Given the description of an element on the screen output the (x, y) to click on. 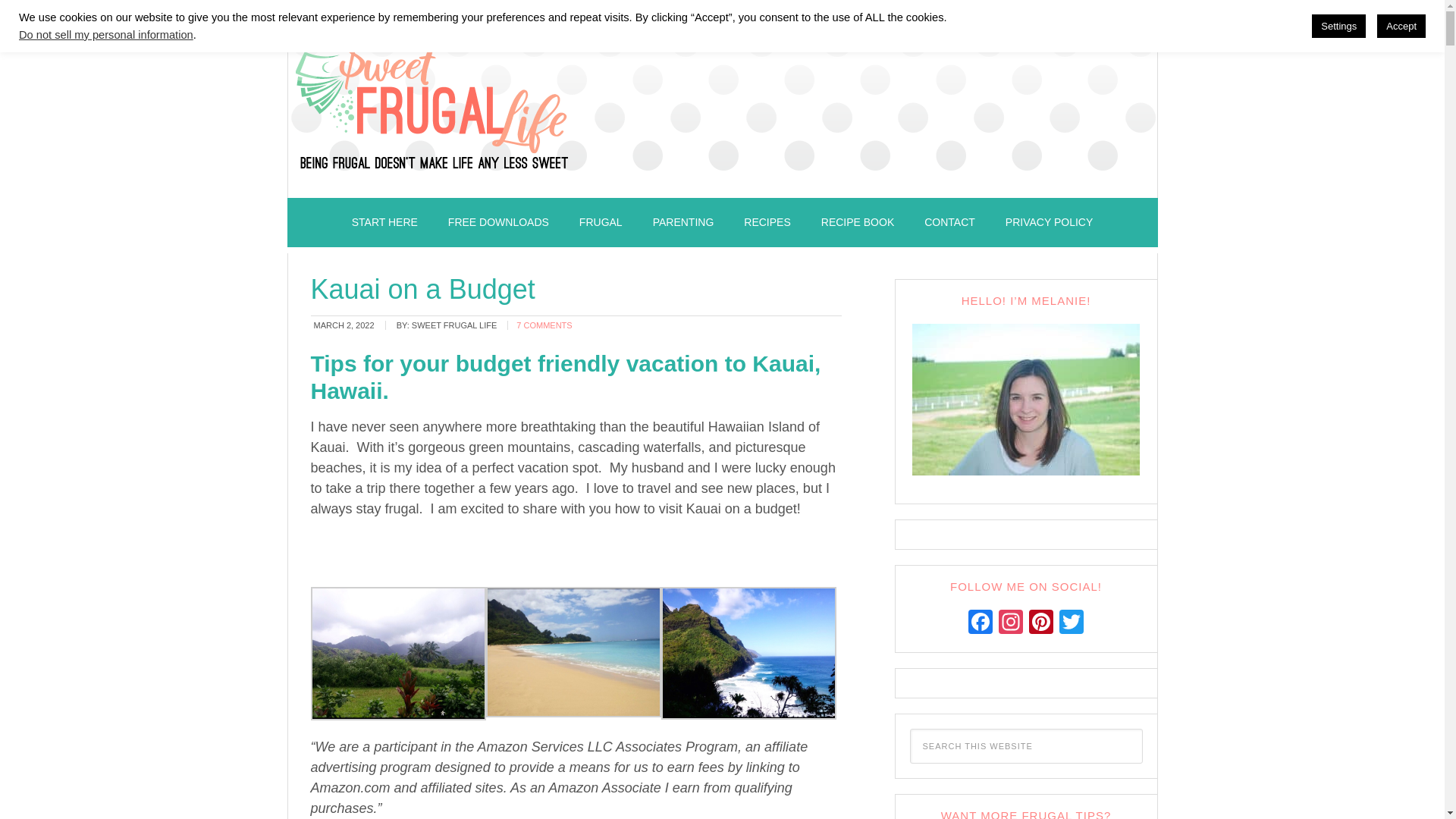
RECIPE BOOK (857, 222)
Facebook (980, 623)
FREE DOWNLOADS (498, 222)
Kauai on a Budget (423, 288)
PARENTING (683, 222)
Pinterest (1041, 623)
7 COMMENTS (544, 325)
Twitter (1071, 623)
CONTACT (949, 222)
Instagram (1010, 623)
START HERE (384, 222)
FRUGAL (600, 222)
RECIPES (767, 222)
